Given the description of an element on the screen output the (x, y) to click on. 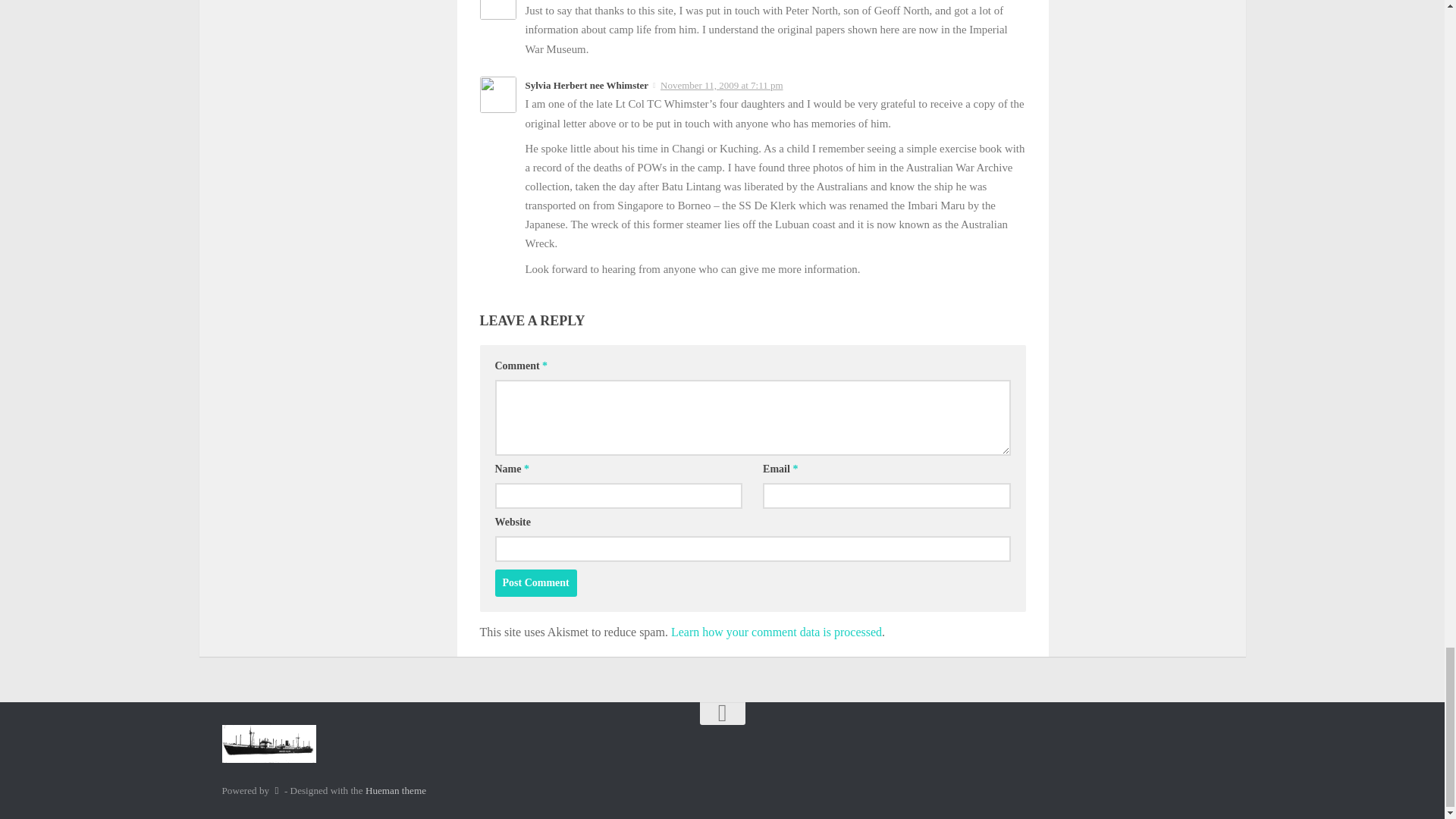
Post Comment (535, 583)
